Given the description of an element on the screen output the (x, y) to click on. 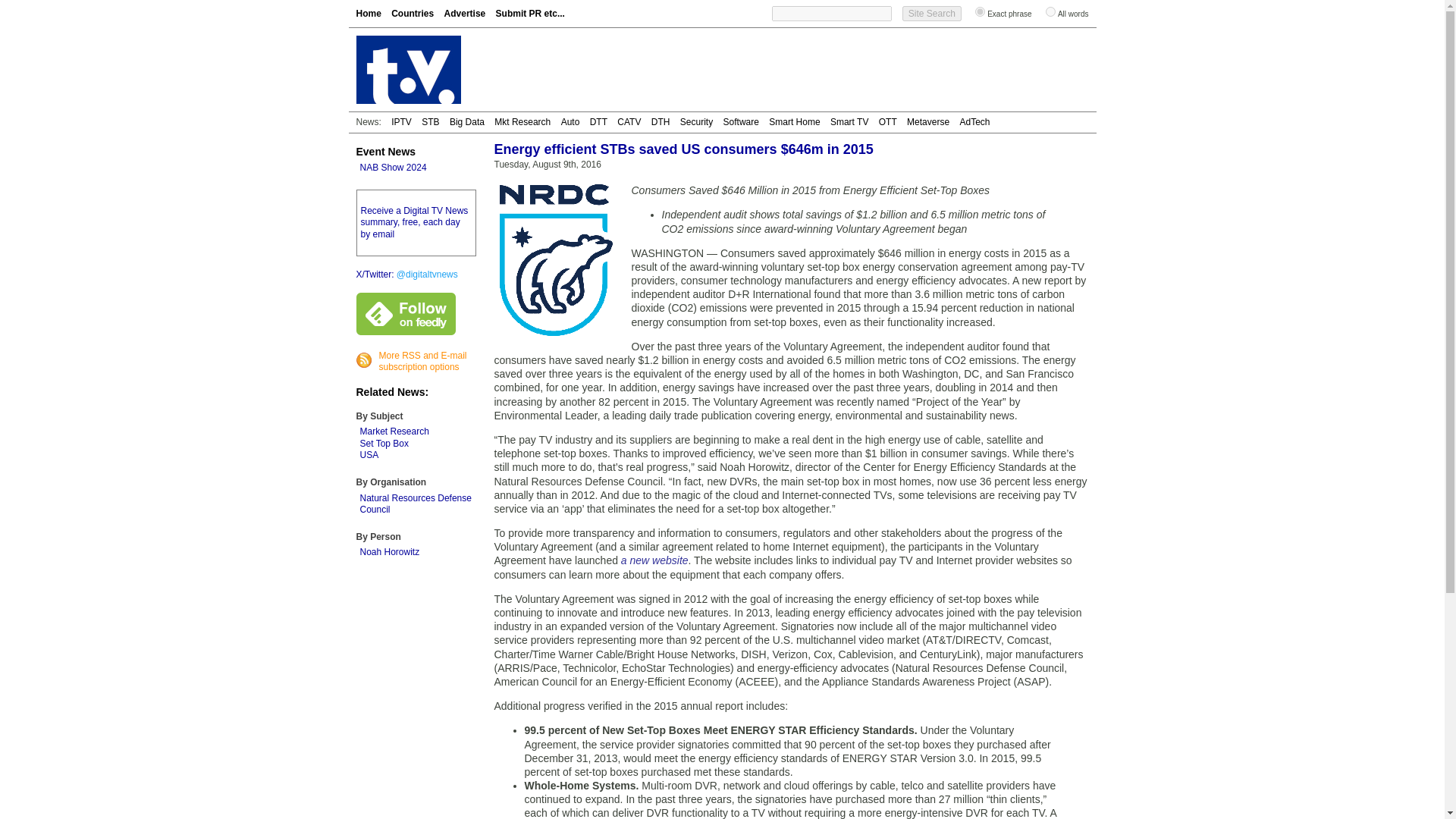
CATV (628, 122)
Event News (386, 151)
OTT (887, 122)
Security (696, 122)
NAB Show 2024 (392, 167)
Advertisement (813, 70)
USA (368, 454)
Software (740, 122)
Market Research (393, 430)
STB (430, 122)
Mkt Research (522, 122)
TV Measurement, Monitoring and Analytics News (466, 122)
AdTech (974, 122)
Receive a Digital TV News summary, free, each day by email (414, 222)
Countries (412, 13)
